Given the description of an element on the screen output the (x, y) to click on. 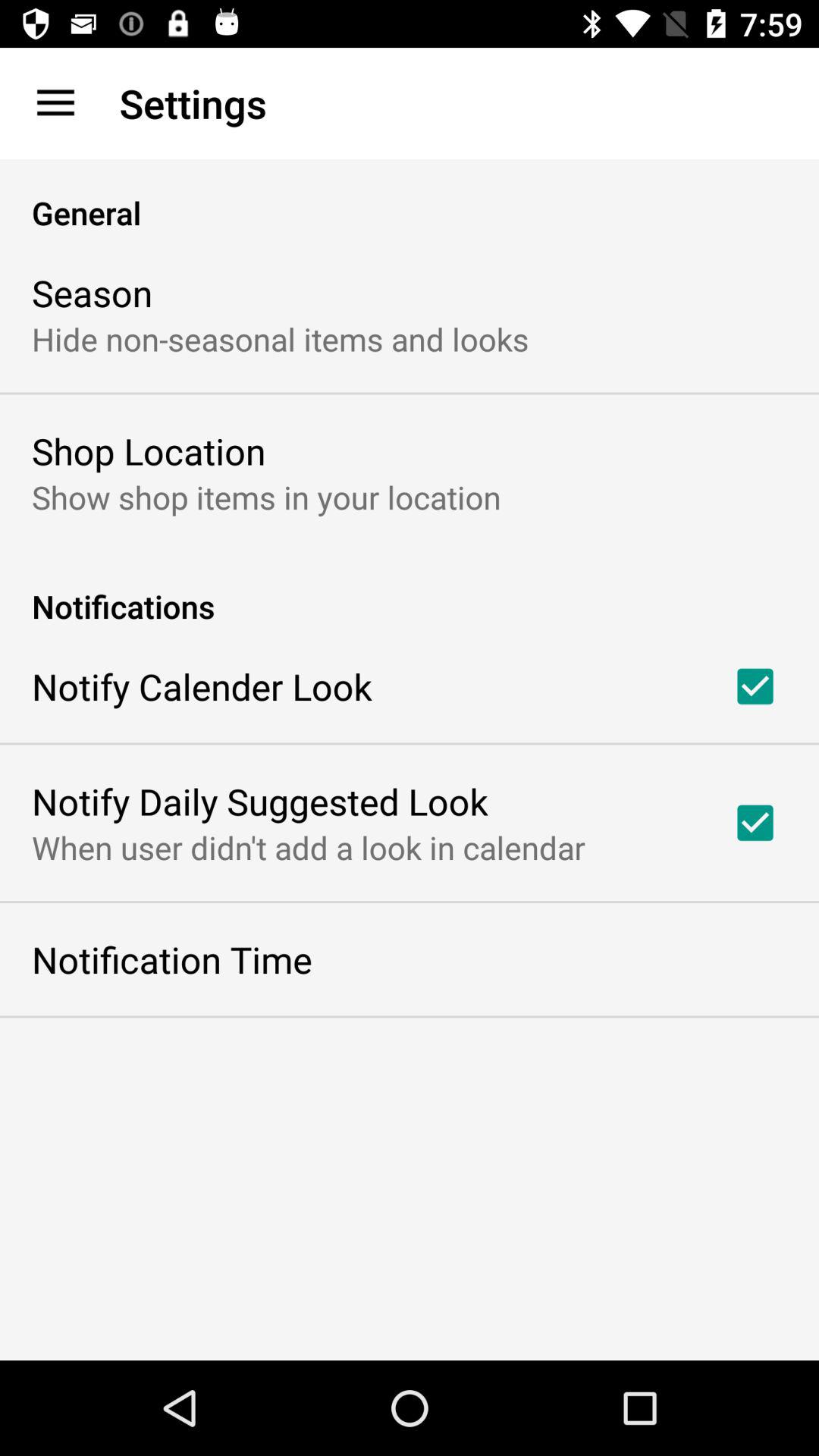
swipe until hide non seasonal (279, 338)
